Given the description of an element on the screen output the (x, y) to click on. 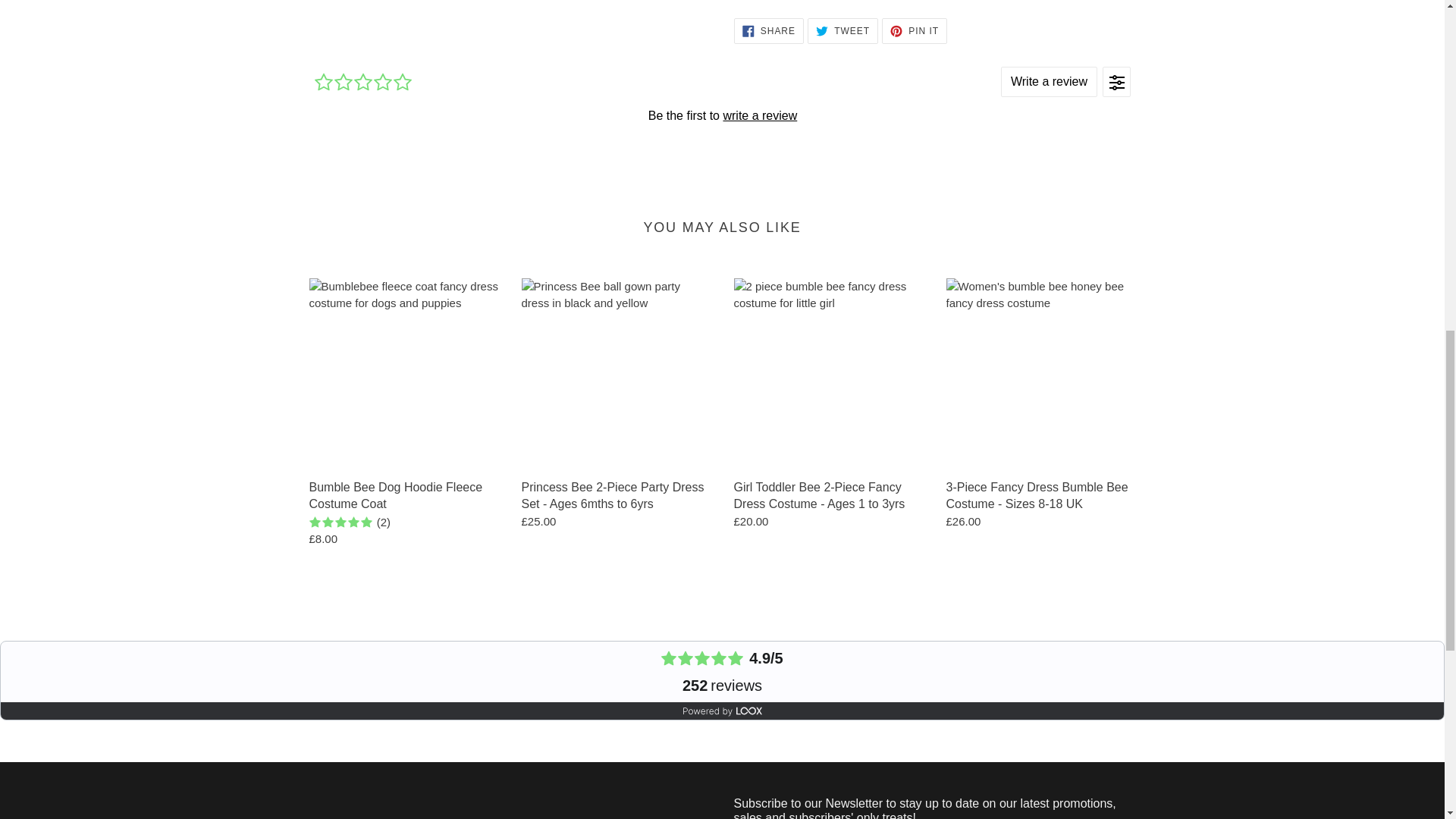
Product reviews widget (721, 114)
